Given the description of an element on the screen output the (x, y) to click on. 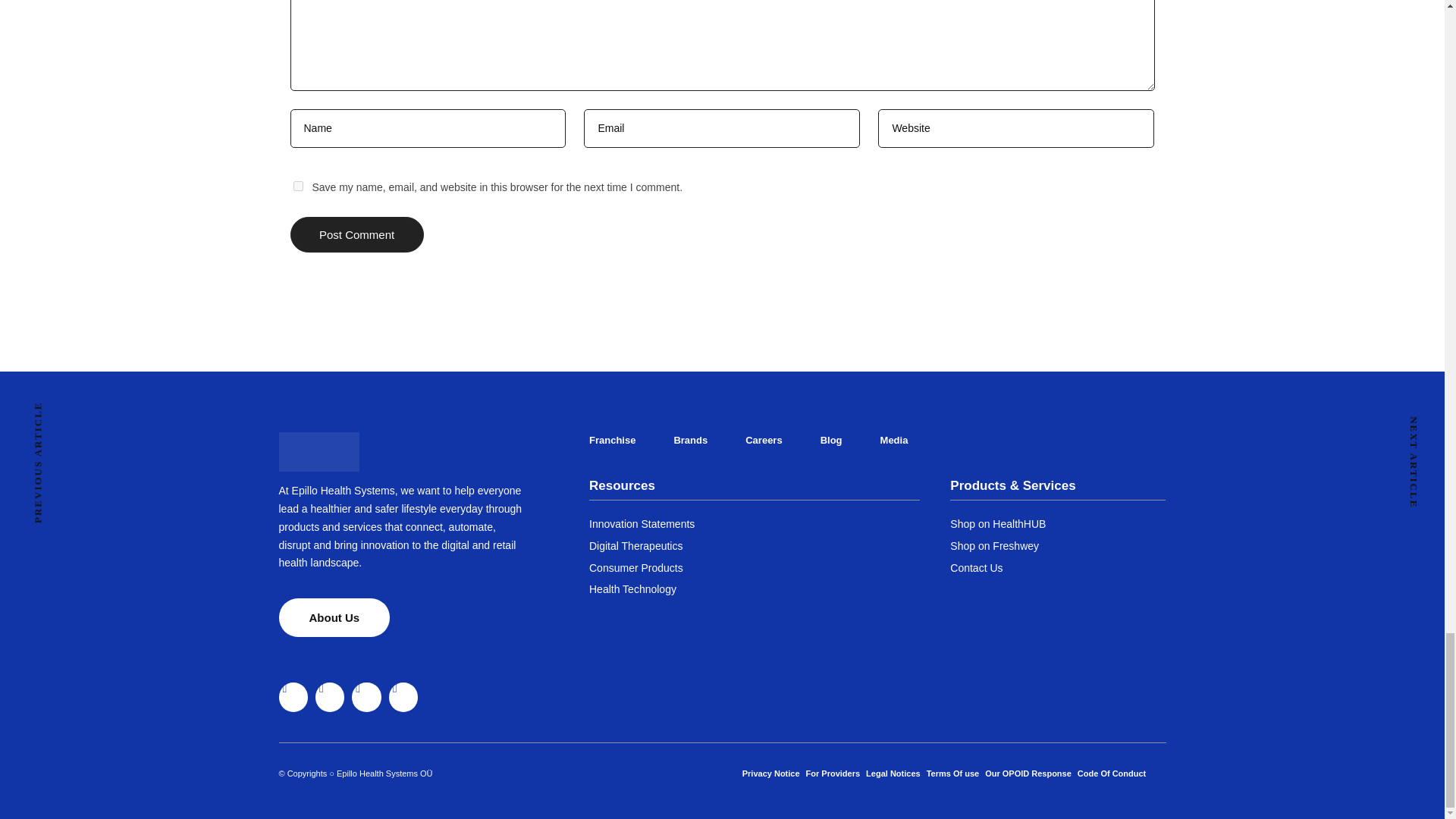
Consumer Products (754, 568)
Health Technology (754, 589)
Innovation Statements (754, 524)
Blog (832, 440)
About Us (334, 617)
Careers (763, 440)
Post Comment (356, 234)
yes (297, 185)
Shop on Freshwey (1058, 546)
Franchise (611, 440)
